Given the description of an element on the screen output the (x, y) to click on. 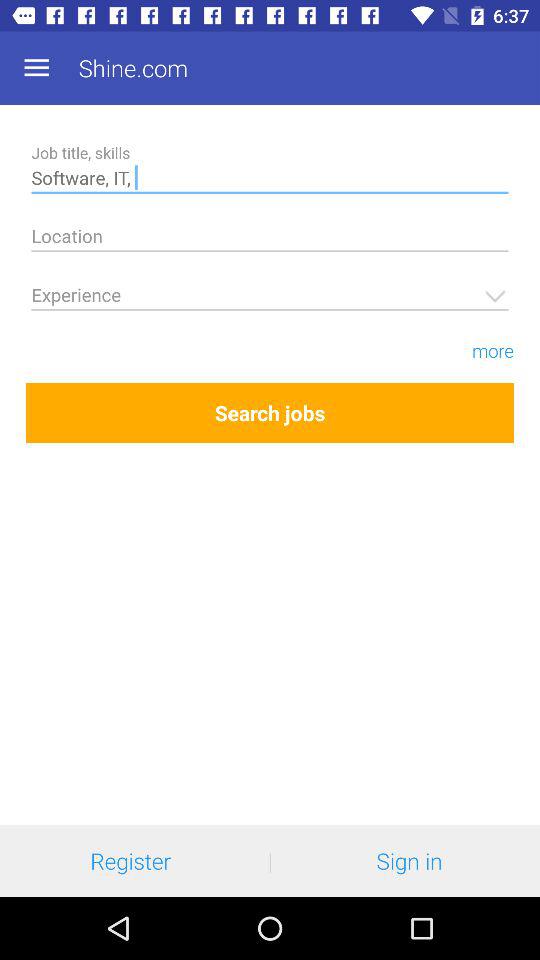
type the experience details (269, 298)
